Given the description of an element on the screen output the (x, y) to click on. 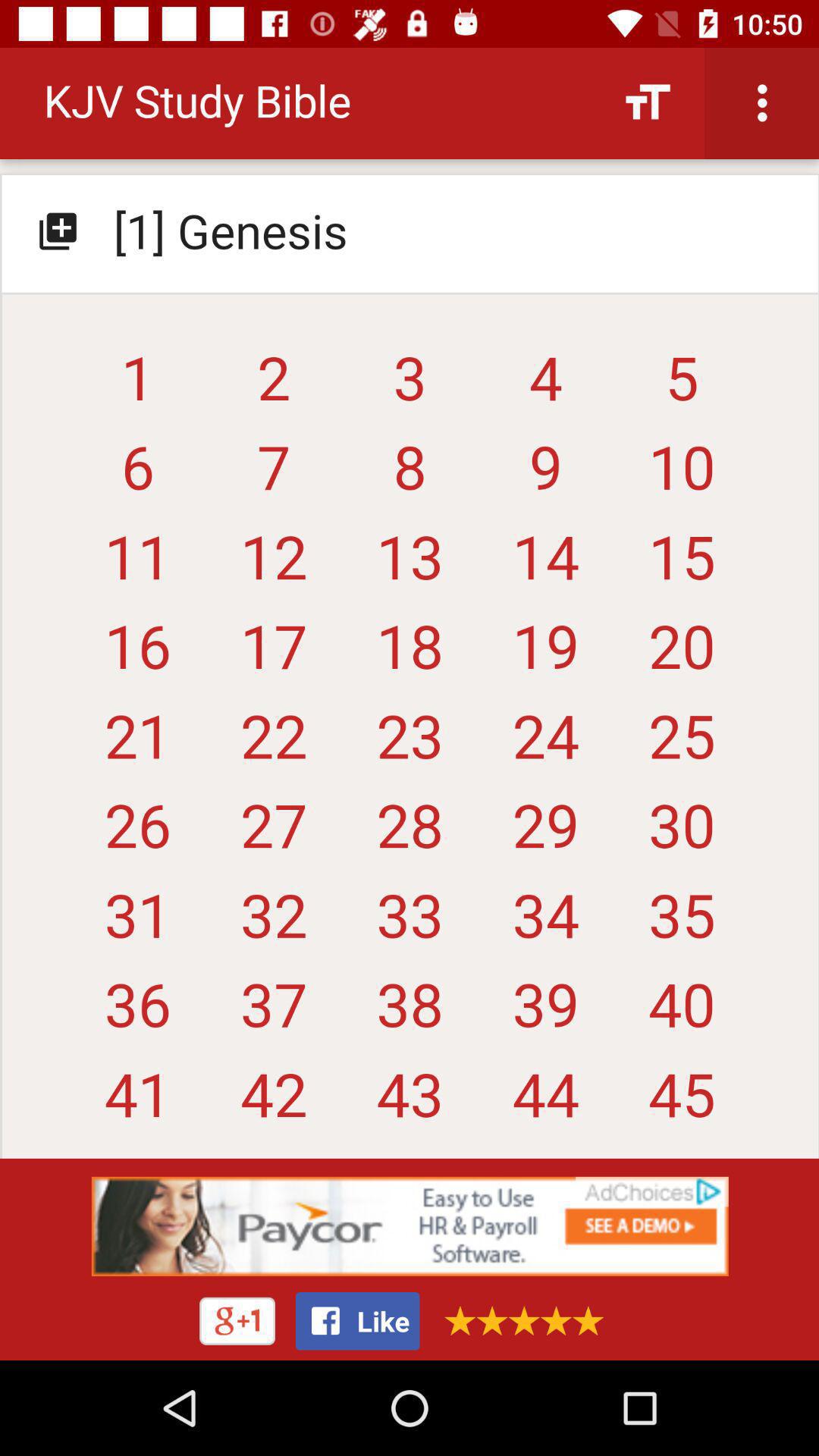
advertisement (409, 1226)
